Given the description of an element on the screen output the (x, y) to click on. 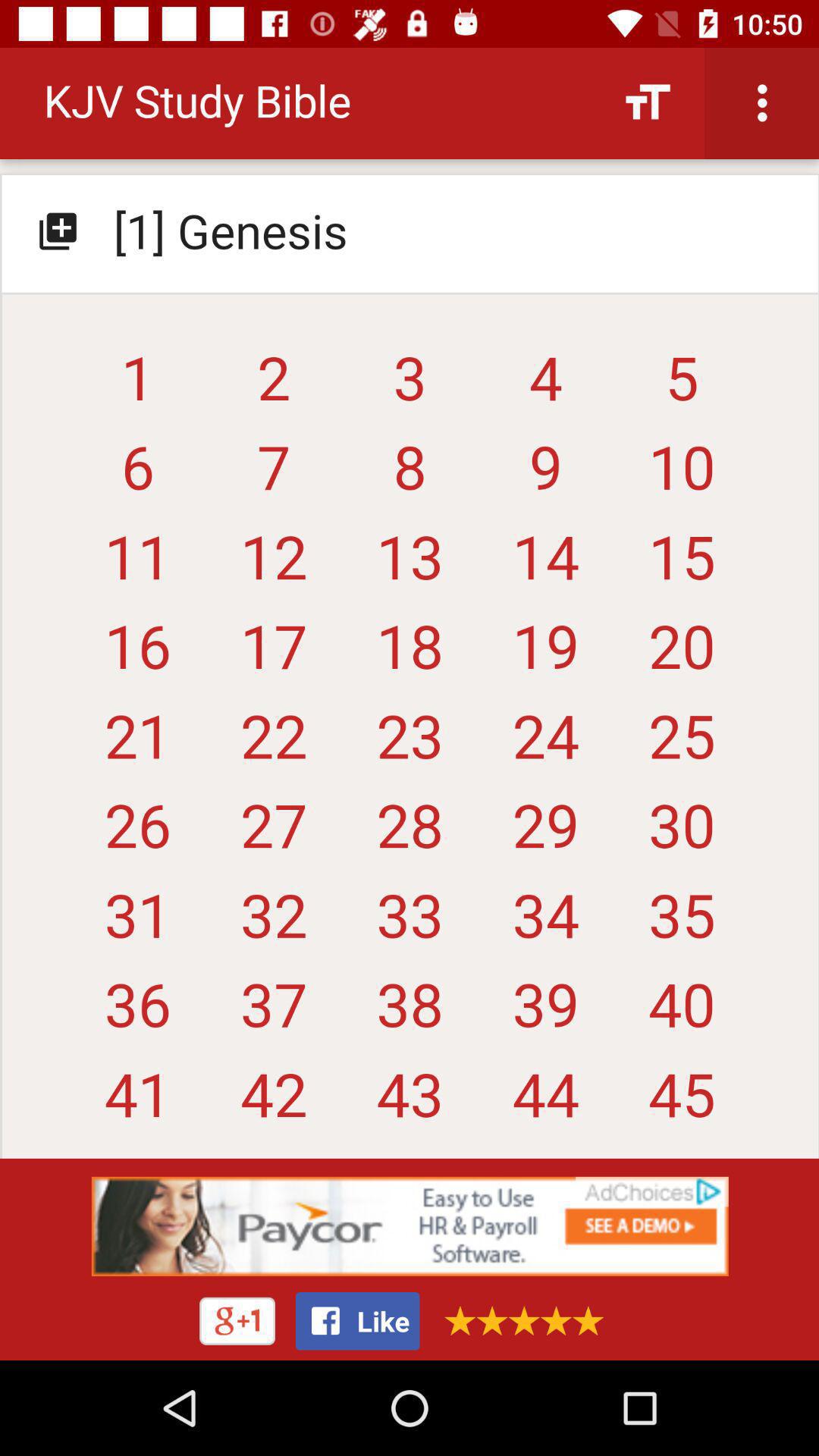
advertisement (409, 1226)
